Given the description of an element on the screen output the (x, y) to click on. 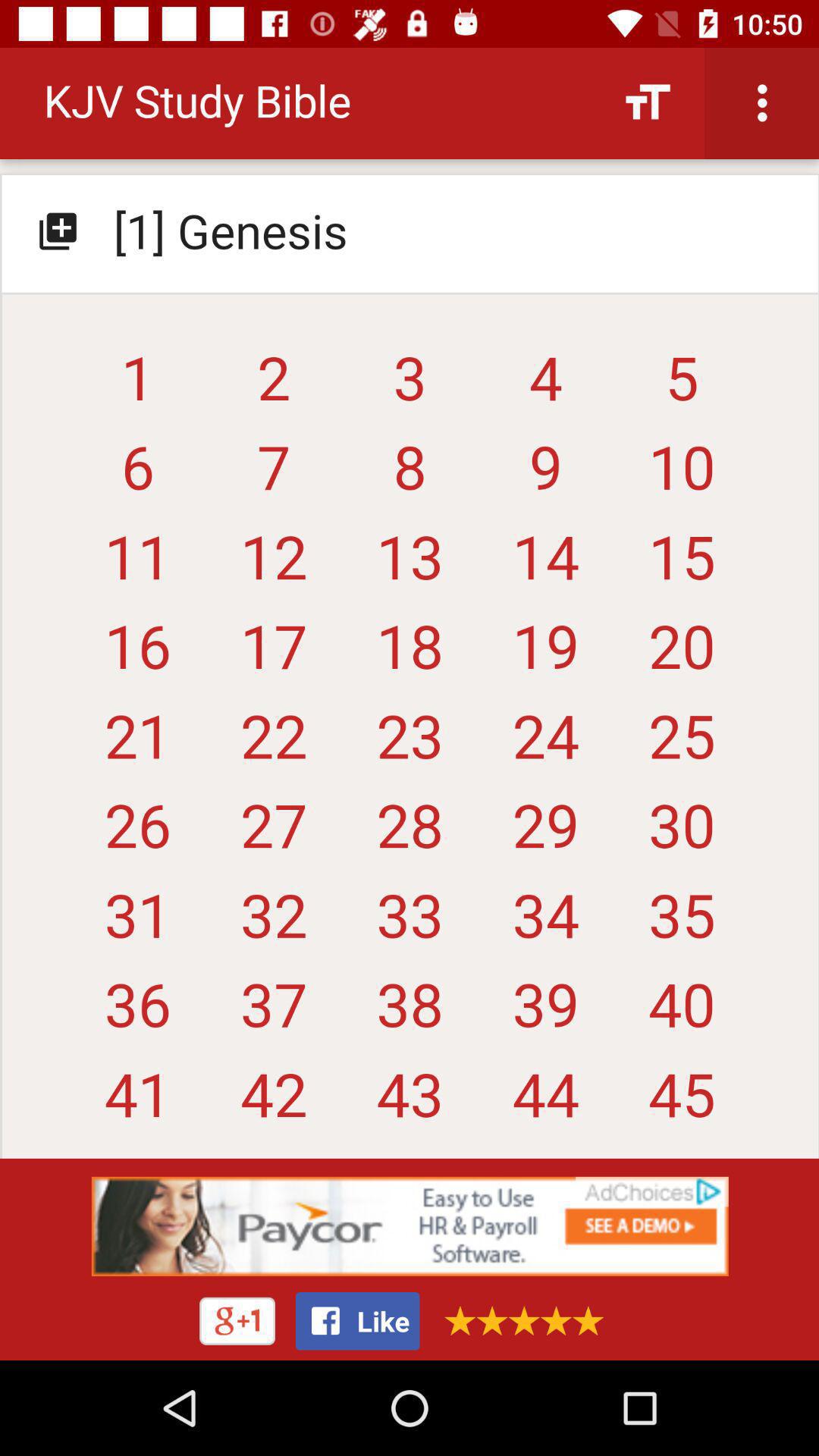
advertisement (409, 1226)
